Given the description of an element on the screen output the (x, y) to click on. 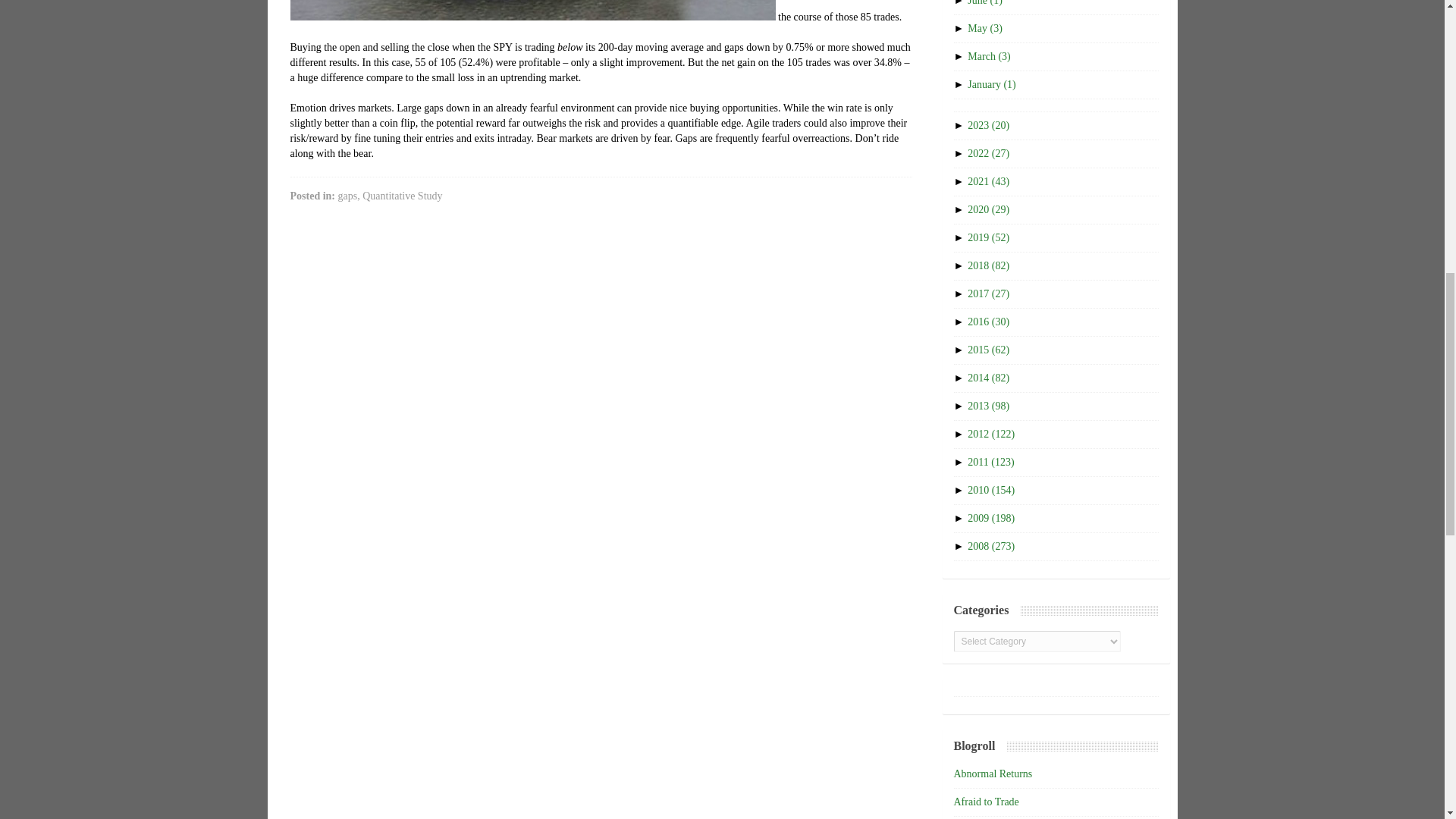
click to expand (960, 56)
March (989, 56)
click to expand (960, 84)
click to expand (960, 28)
click to expand (960, 2)
June (985, 2)
May (985, 28)
January (991, 84)
gaps (347, 195)
click to expand (960, 125)
Quantitative Study (402, 195)
